Given the description of an element on the screen output the (x, y) to click on. 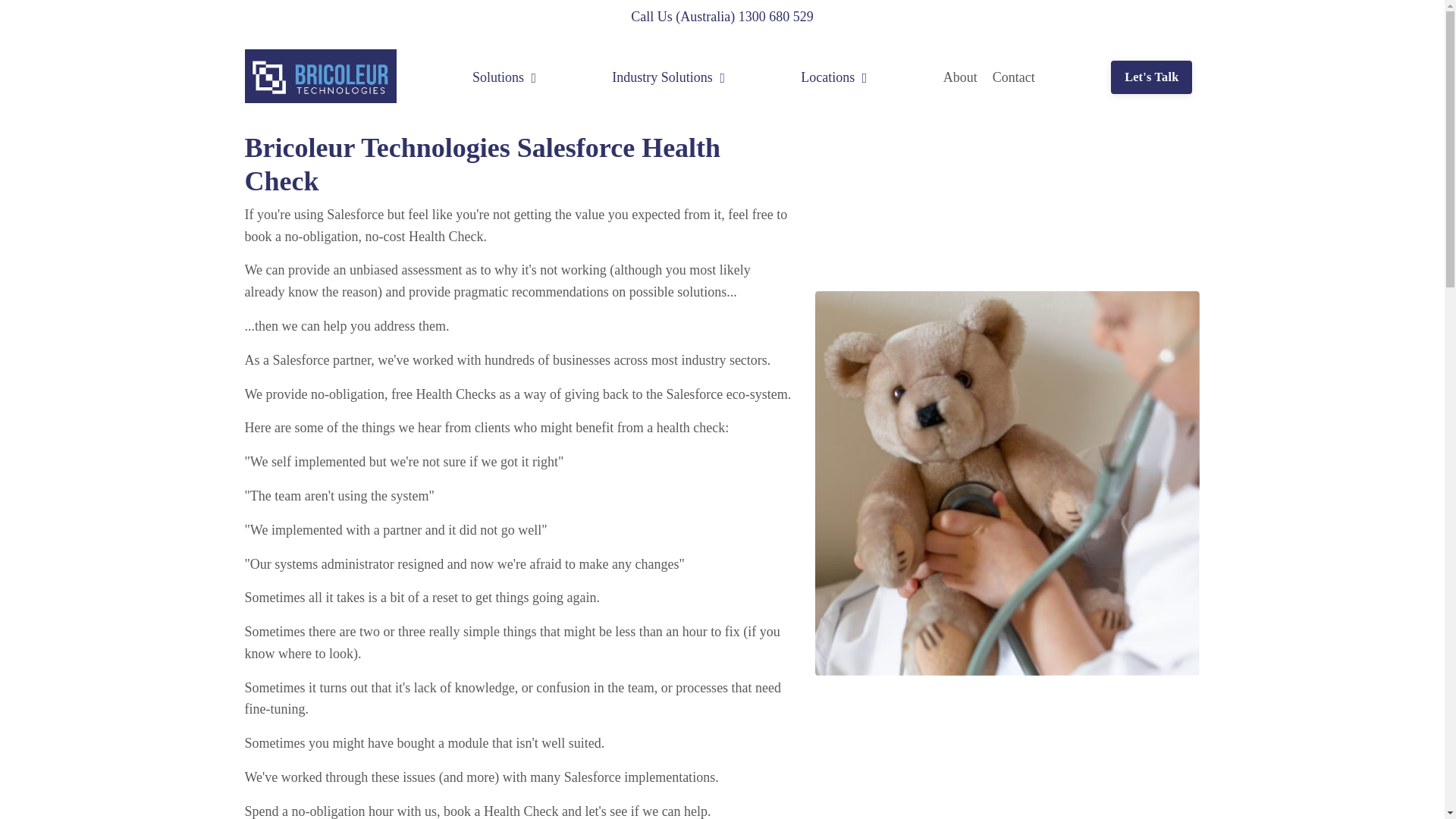
Let's Talk (1151, 77)
Locations (833, 77)
About (959, 77)
Industry Solutions (668, 77)
Solutions (503, 77)
Contact (1013, 77)
